Given the description of an element on the screen output the (x, y) to click on. 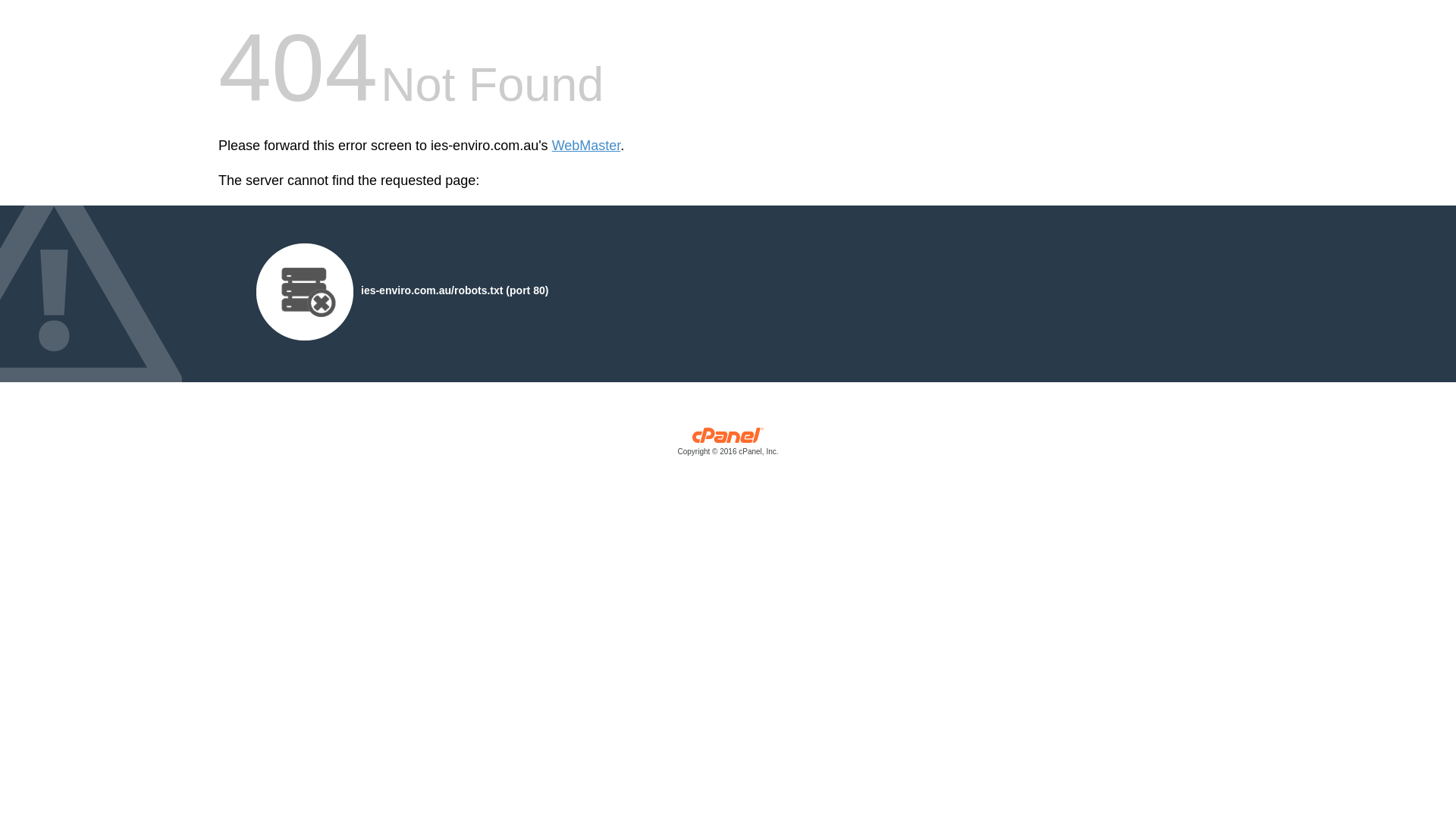
WebMaster Element type: text (586, 145)
